Given the description of an element on the screen output the (x, y) to click on. 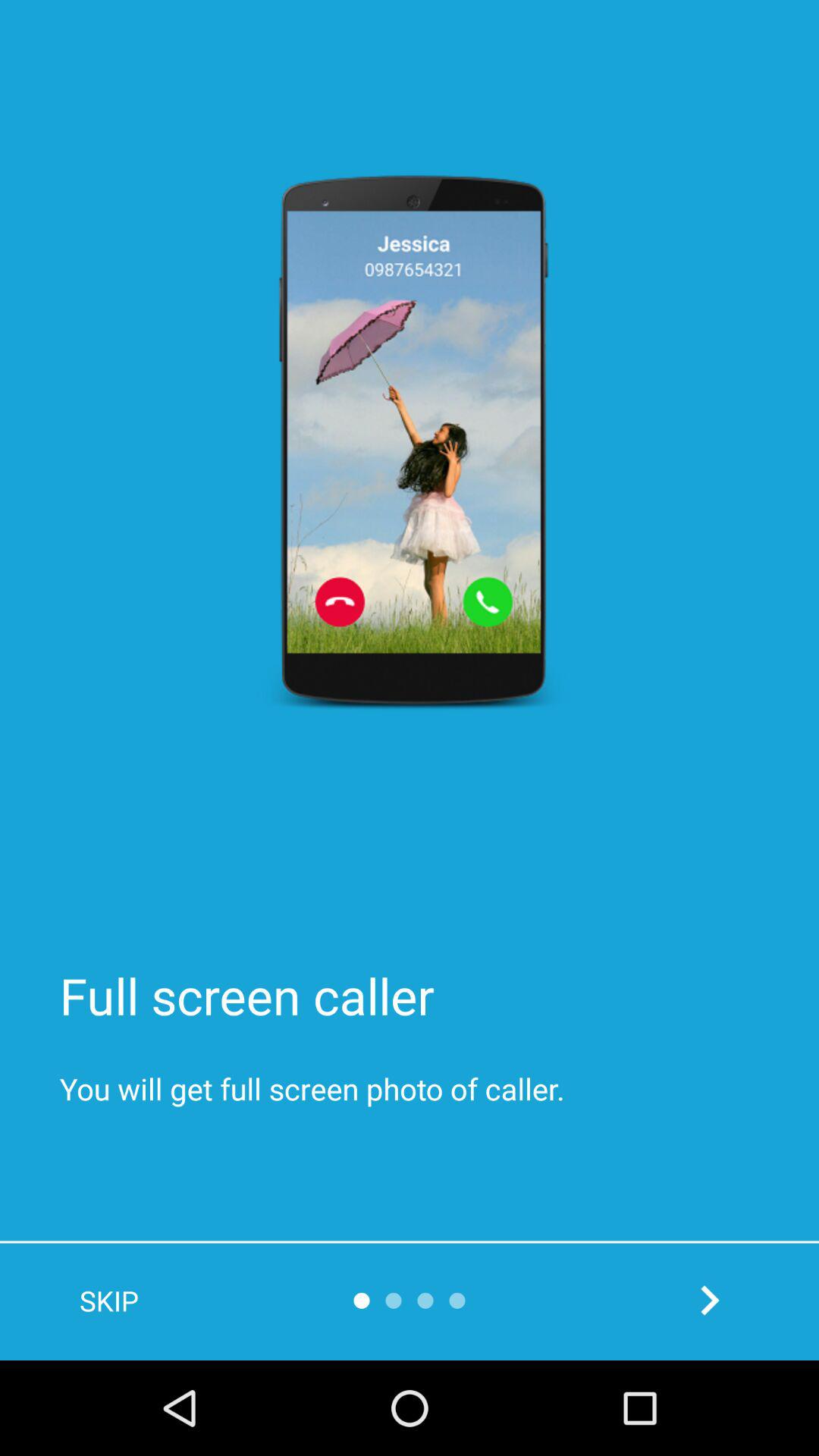
scroll until skip (108, 1300)
